Given the description of an element on the screen output the (x, y) to click on. 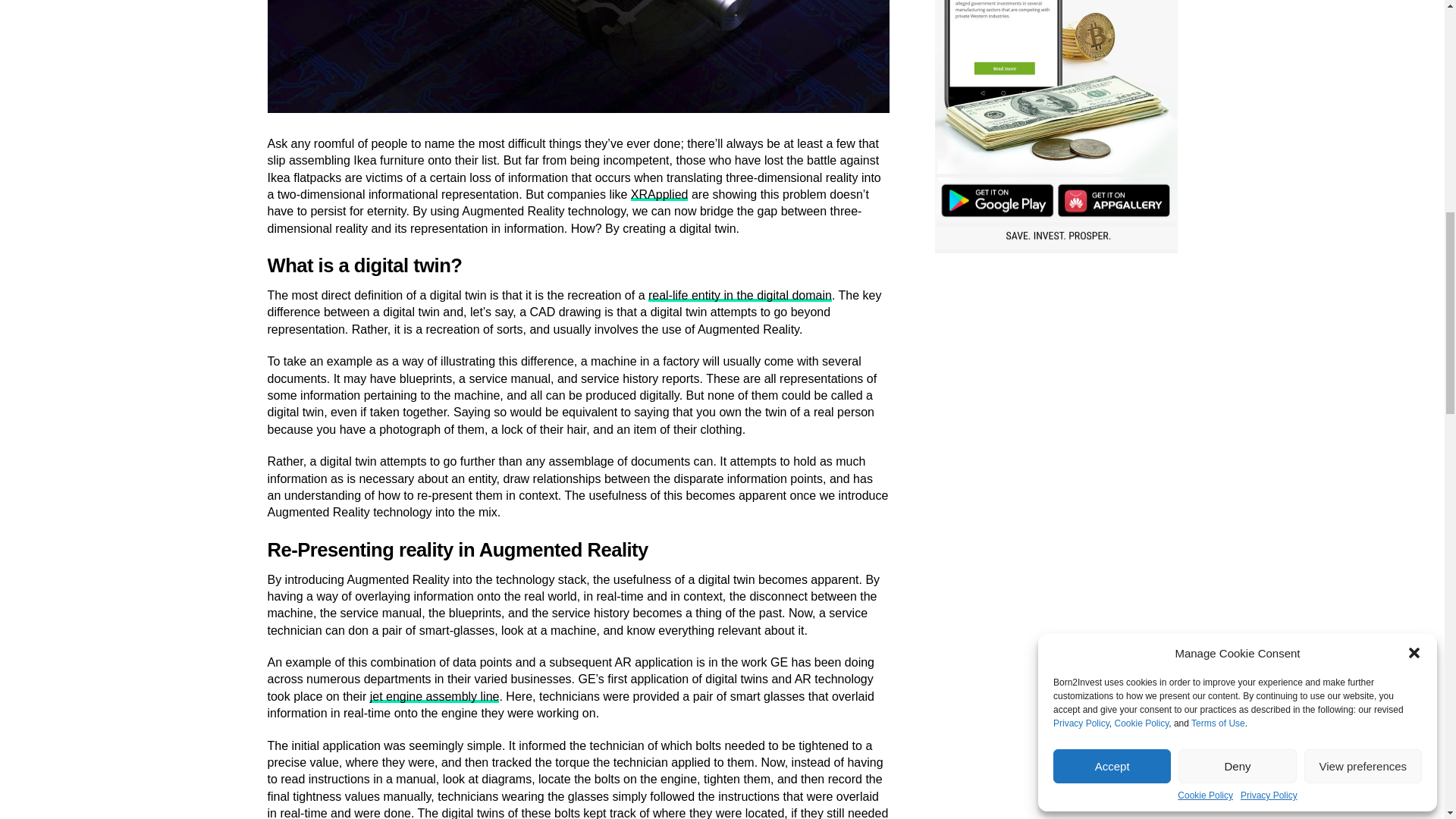
Advertisement (1055, 371)
